Given the description of an element on the screen output the (x, y) to click on. 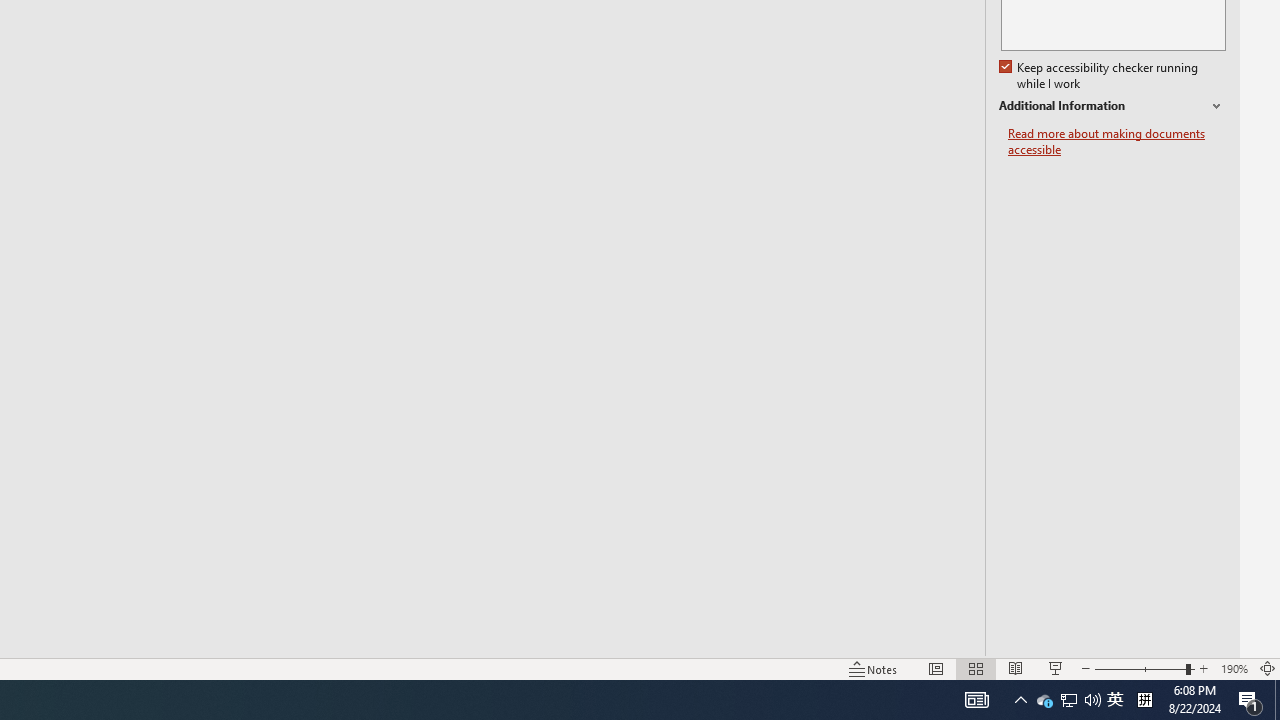
Zoom 190% (1234, 668)
